Given the description of an element on the screen output the (x, y) to click on. 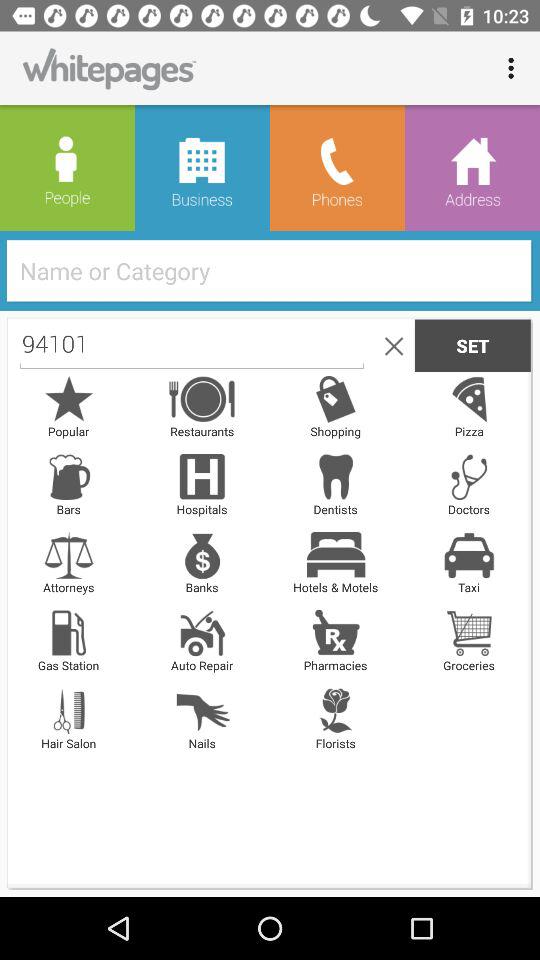
turn off the icon to the left of set icon (390, 345)
